Given the description of an element on the screen output the (x, y) to click on. 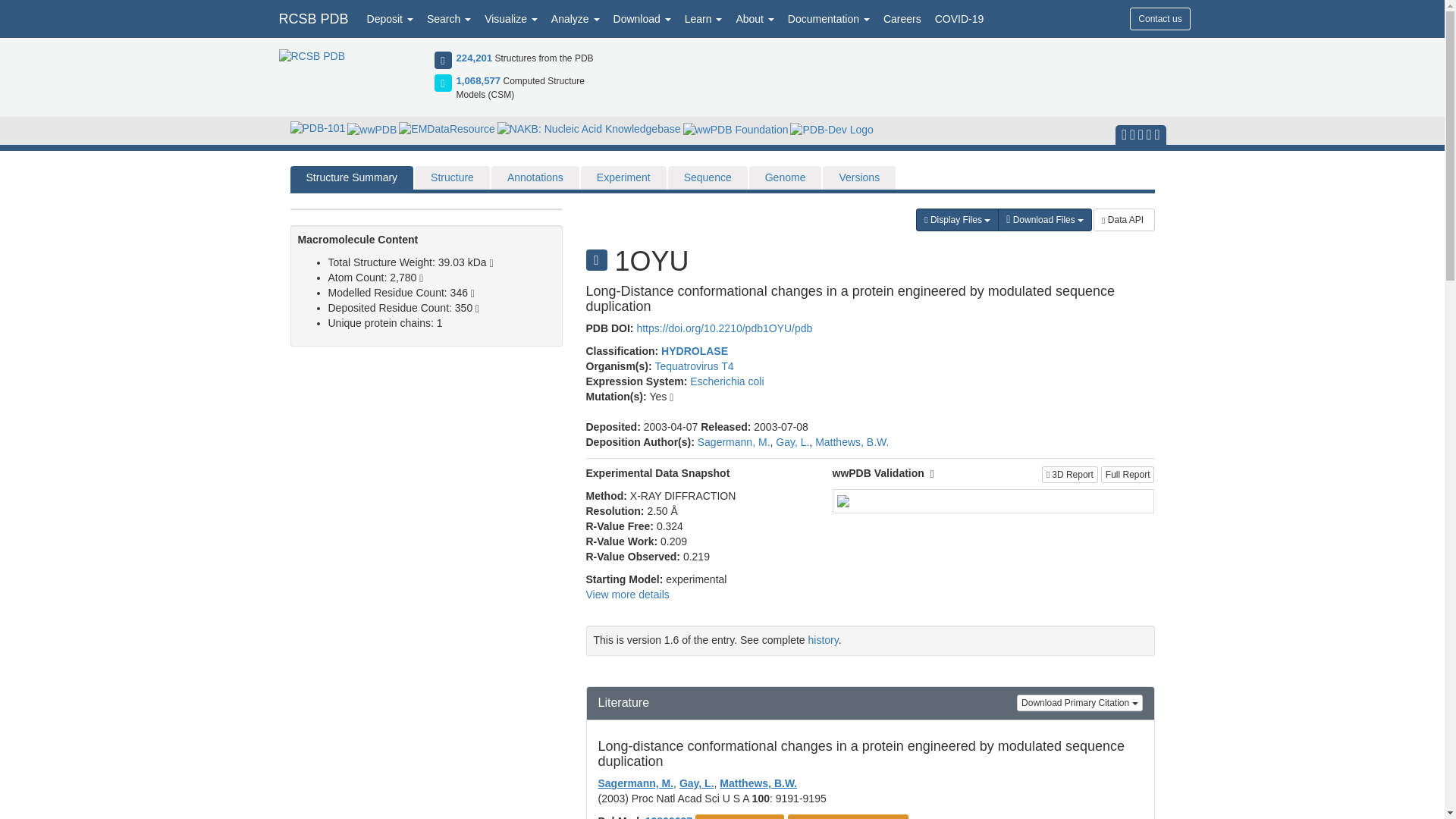
Deposit  (389, 18)
RCSB PDB (312, 18)
Search  (448, 18)
Analyze  (575, 18)
Visualize  (510, 18)
